Given the description of an element on the screen output the (x, y) to click on. 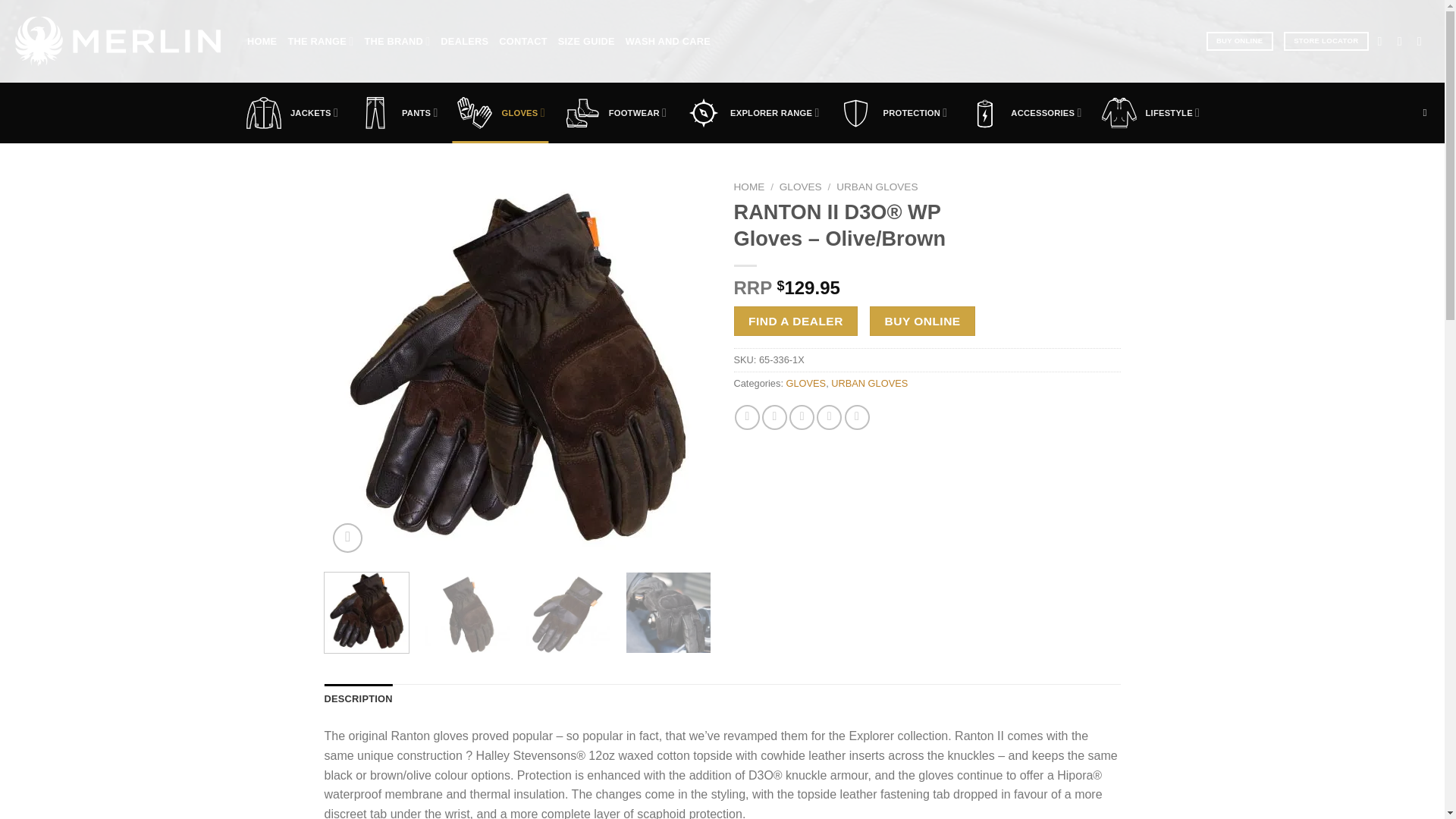
WASH AND CARE (668, 41)
Email to a Friend (801, 416)
JACKETS (291, 112)
BUY ONLINE (1239, 40)
Share on Facebook (747, 416)
THE RANGE (319, 41)
STORE LOCATOR (1326, 40)
Zoom (347, 537)
Share on Twitter (774, 416)
DEALERS (464, 41)
